Given the description of an element on the screen output the (x, y) to click on. 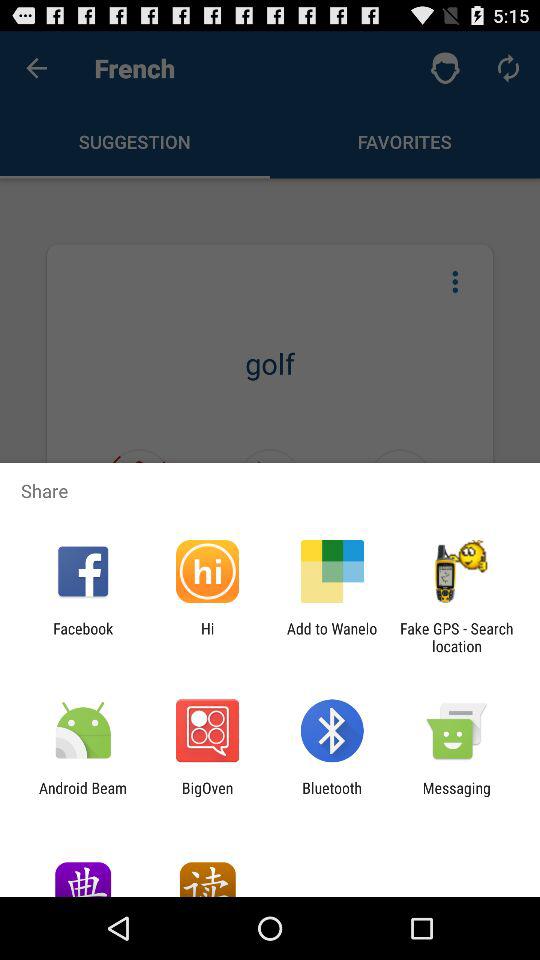
flip until the hi app (207, 637)
